Given the description of an element on the screen output the (x, y) to click on. 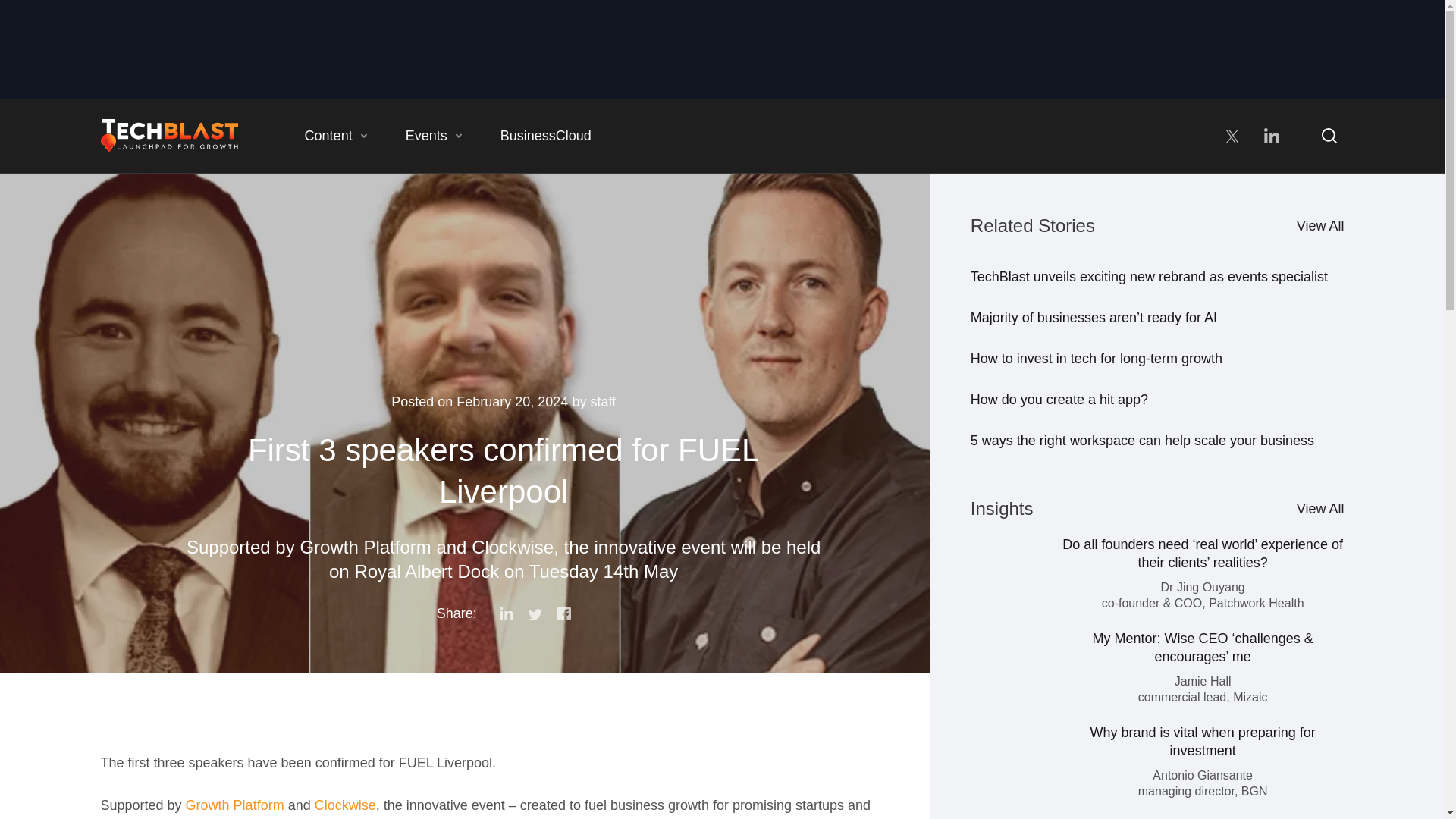
TechBlast unveils exciting new rebrand as events specialist (1149, 276)
View All (1320, 226)
Growth Platform (232, 805)
BusinessCloud (545, 135)
Events (433, 135)
How to invest in tech for long-term growth (1097, 358)
Content (336, 135)
Clockwise (343, 805)
